Given the description of an element on the screen output the (x, y) to click on. 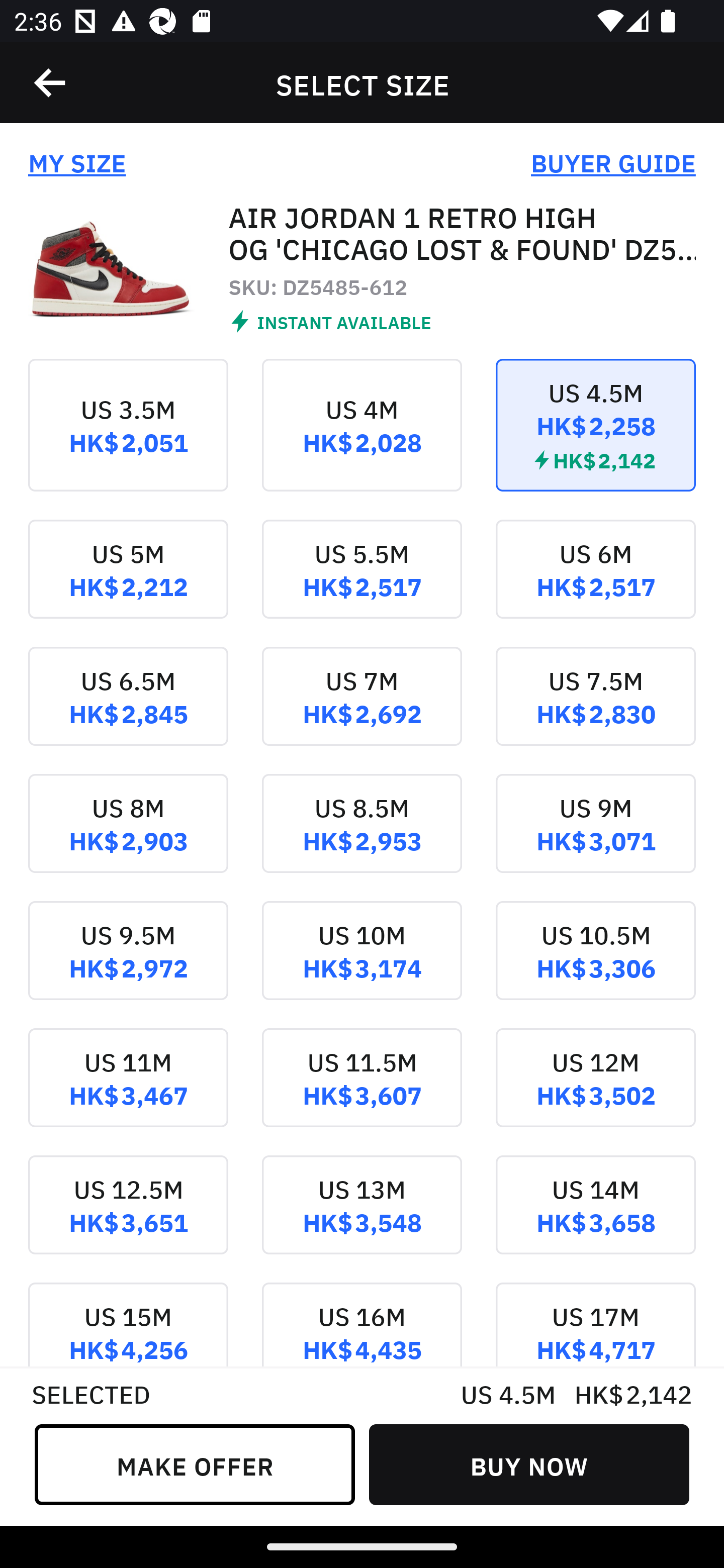
 (50, 83)
US 3.5M HK$ 2,051 (128, 439)
US 4M HK$ 2,028 (361, 439)
US 4.5M HK$ 2,258  HK$ 2,142 (595, 439)
US 5M HK$ 2,212 (128, 582)
US 5.5M HK$ 2,517 (361, 582)
US 6M HK$ 2,517 (595, 582)
US 6.5M HK$ 2,845 (128, 710)
US 7M HK$ 2,692 (361, 710)
US 7.5M HK$ 2,830 (595, 710)
US 8M HK$ 2,903 (128, 837)
US 8.5M HK$ 2,953 (361, 837)
US 9M HK$ 3,071 (595, 837)
US 9.5M HK$ 2,972 (128, 964)
US 10M HK$ 3,174 (361, 964)
US 10.5M HK$ 3,306 (595, 964)
US 11M HK$ 3,467 (128, 1091)
US 11.5M HK$ 3,607 (361, 1091)
US 12M HK$ 3,502 (595, 1091)
US 12.5M HK$ 3,651 (128, 1218)
US 13M HK$ 3,548 (361, 1218)
US 14M HK$ 3,658 (595, 1218)
US 15M HK$ 4,256 (128, 1323)
US 16M HK$ 4,435 (361, 1323)
US 17M HK$ 4,717 (595, 1323)
MAKE OFFER (194, 1464)
BUY NOW (529, 1464)
